Given the description of an element on the screen output the (x, y) to click on. 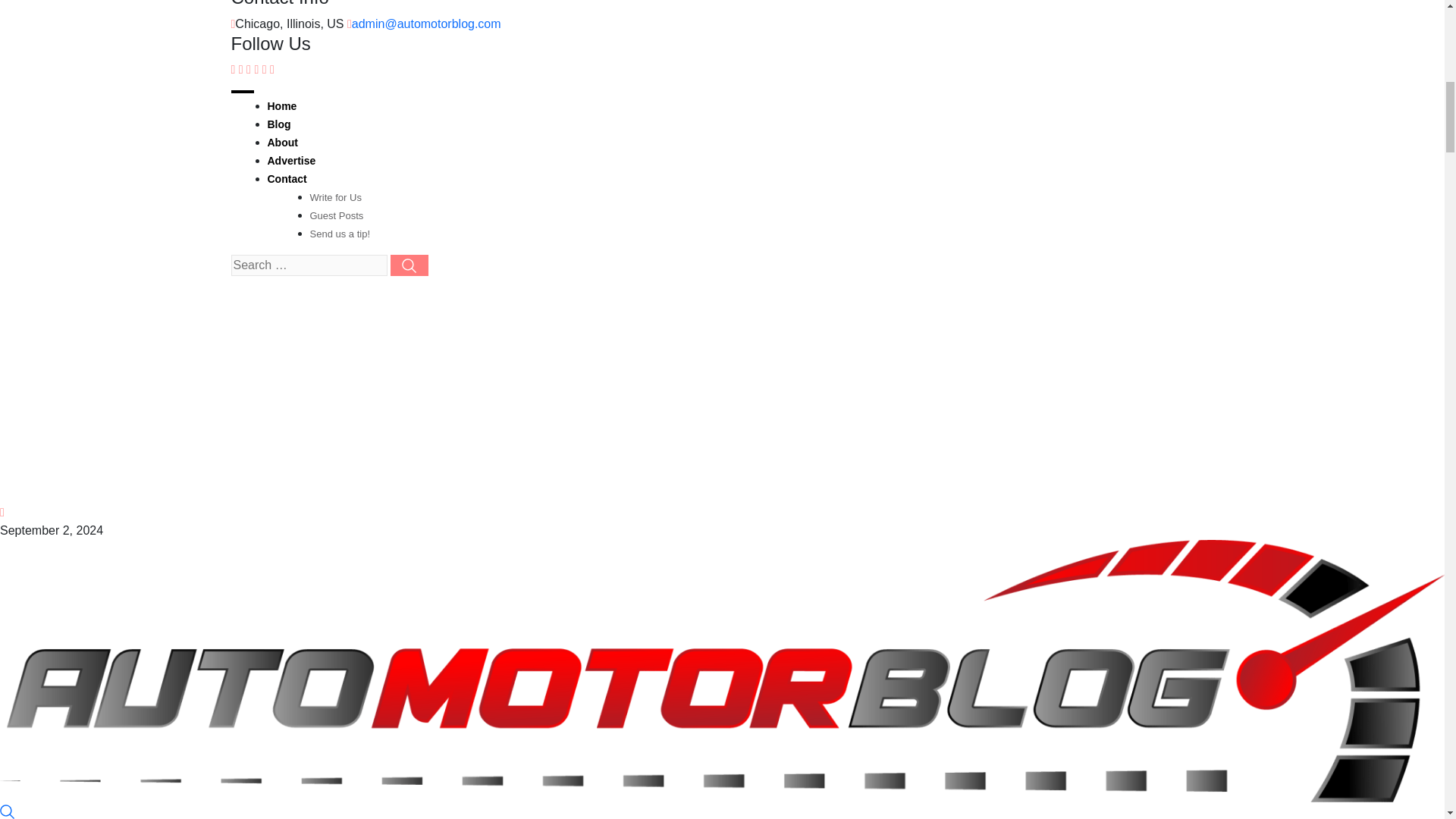
Send us a tip! (338, 233)
Blog (277, 123)
Search (7, 810)
Home (281, 105)
About (281, 142)
Advertise (290, 160)
Write for Us (334, 197)
Guest Posts (335, 215)
Contact (285, 178)
